Given the description of an element on the screen output the (x, y) to click on. 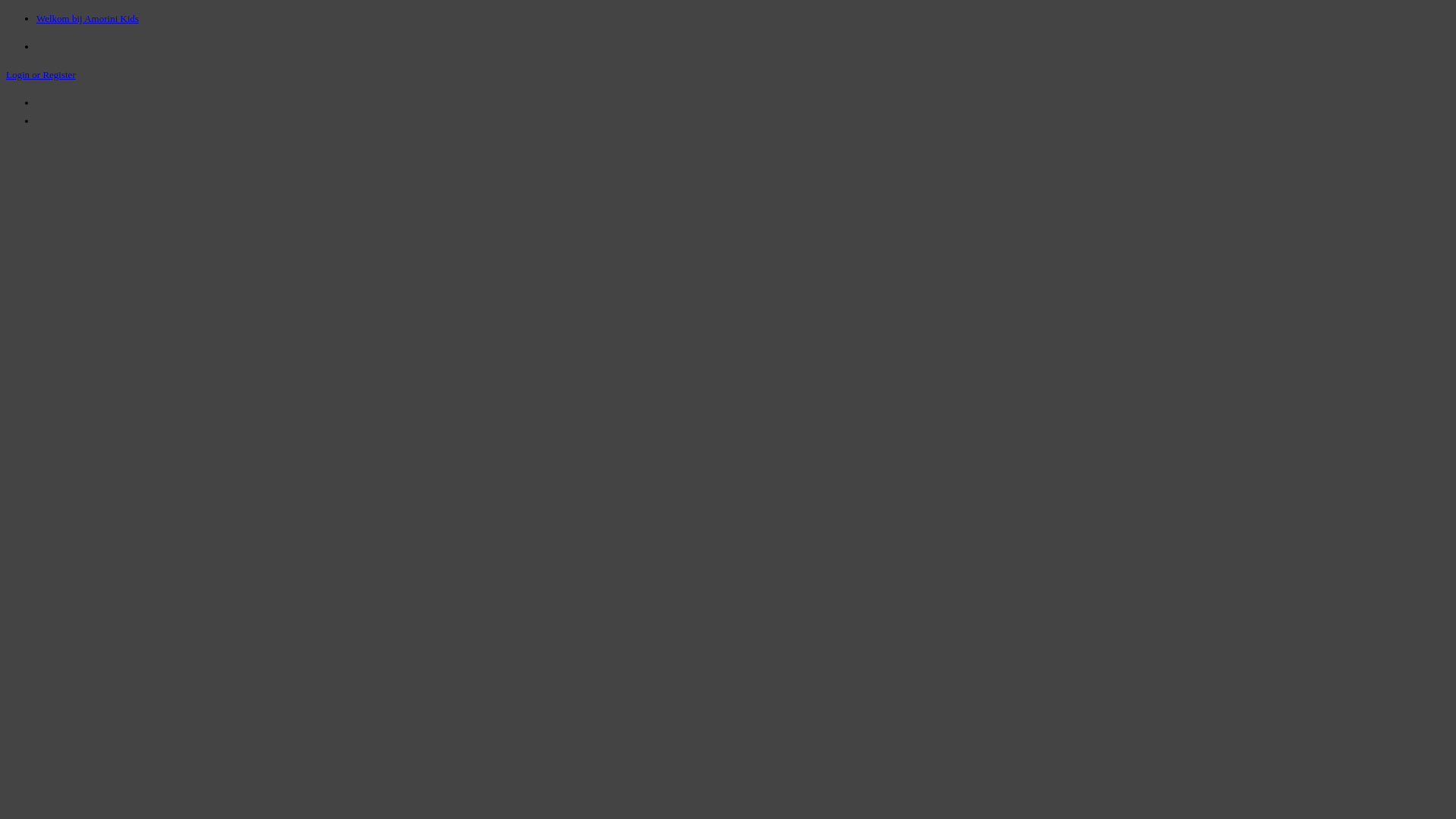
Login or Register Element type: text (40, 74)
Welkom bij Amorini Kids Element type: text (87, 18)
